Given the description of an element on the screen output the (x, y) to click on. 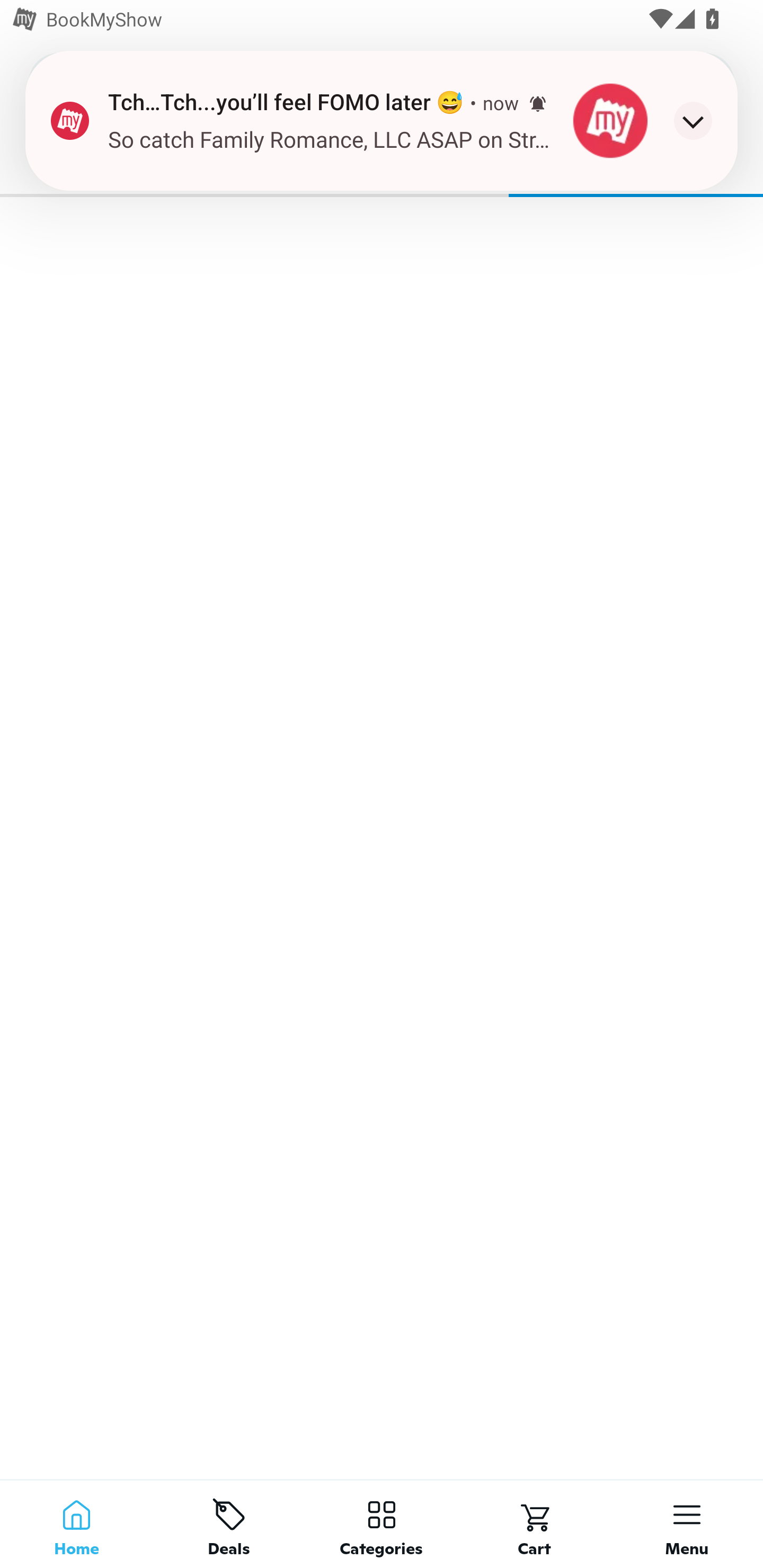
Home (76, 1523)
Deals (228, 1523)
Categories (381, 1523)
Cart (533, 1523)
Menu (686, 1523)
